Given the description of an element on the screen output the (x, y) to click on. 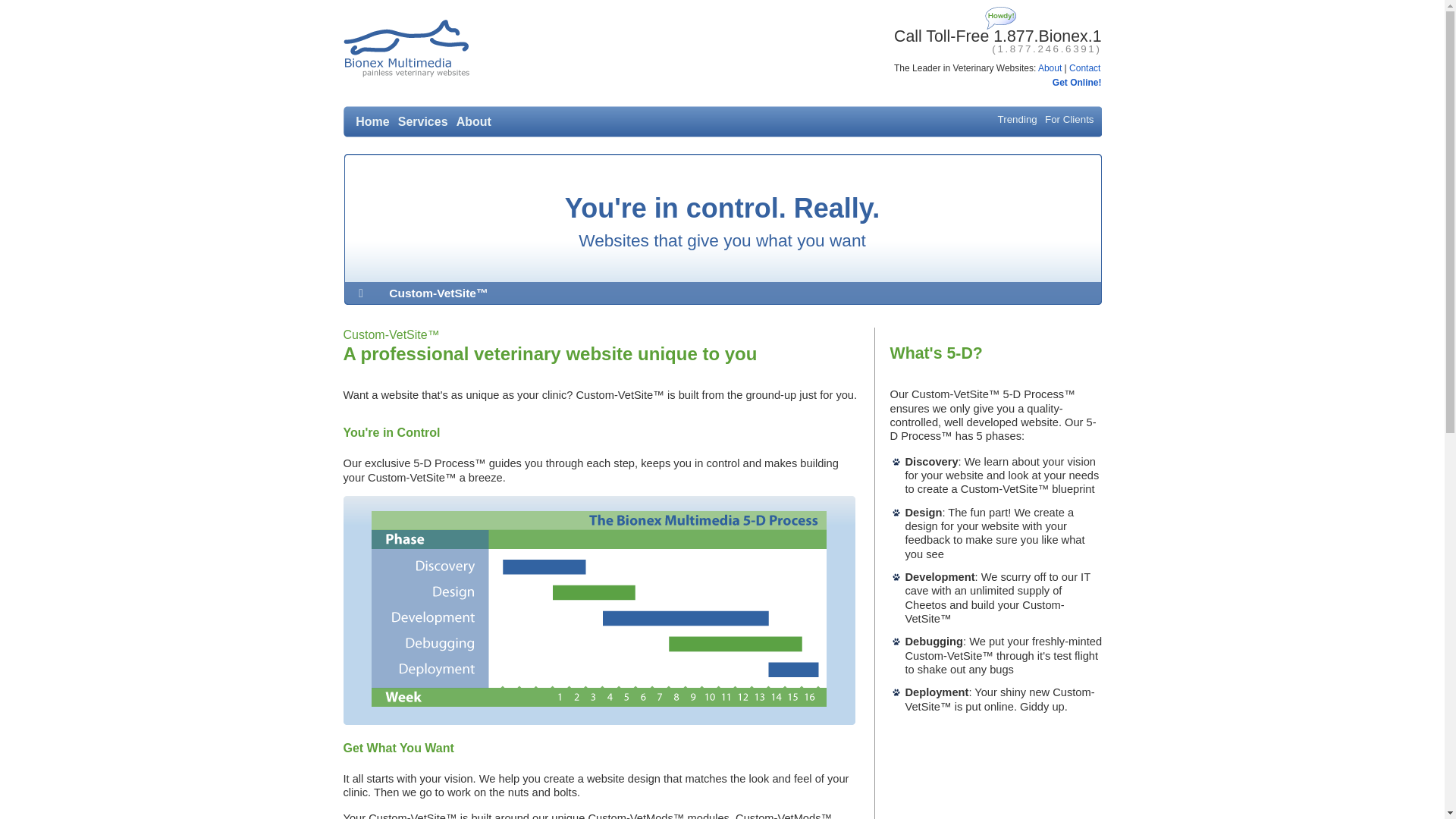
Contact Element type: text (1084, 67)
For Clients Element type: text (1068, 119)
Home Element type: text (372, 121)
Trending Element type: text (1017, 119)
About Element type: text (1049, 67)
About Element type: text (473, 121)
Bionex Multimedia: Simple Veterinary Website Design! Element type: hover (405, 48)
Get Online! Element type: text (1076, 82)
Services Element type: text (423, 121)
